Given the description of an element on the screen output the (x, y) to click on. 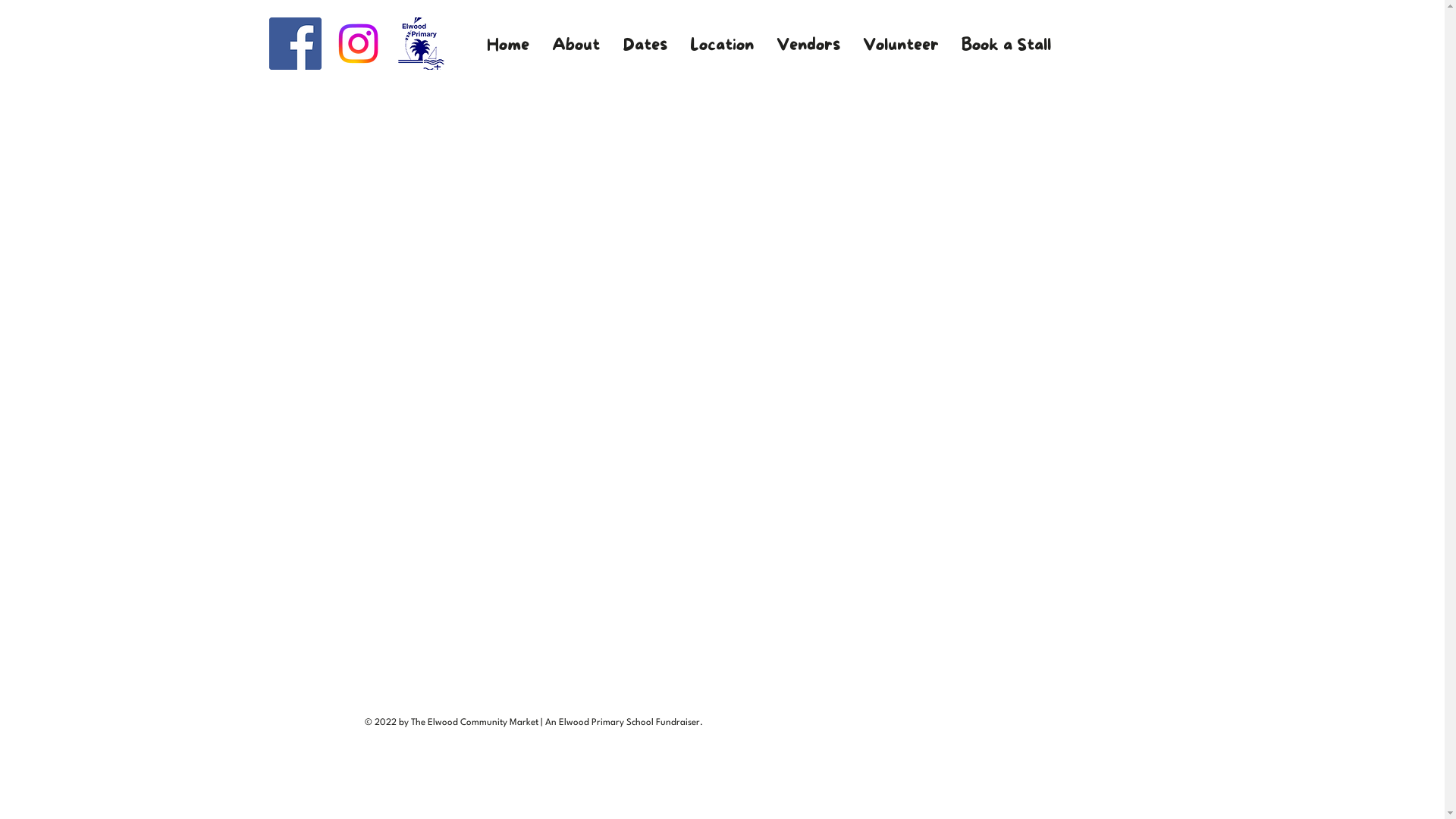
About Element type: text (574, 45)
Location Element type: text (720, 45)
Dates Element type: text (644, 45)
Home Element type: text (506, 45)
Volunteer Element type: text (899, 45)
Book a Stall Element type: text (1005, 45)
Vendors Element type: text (807, 45)
